Given the description of an element on the screen output the (x, y) to click on. 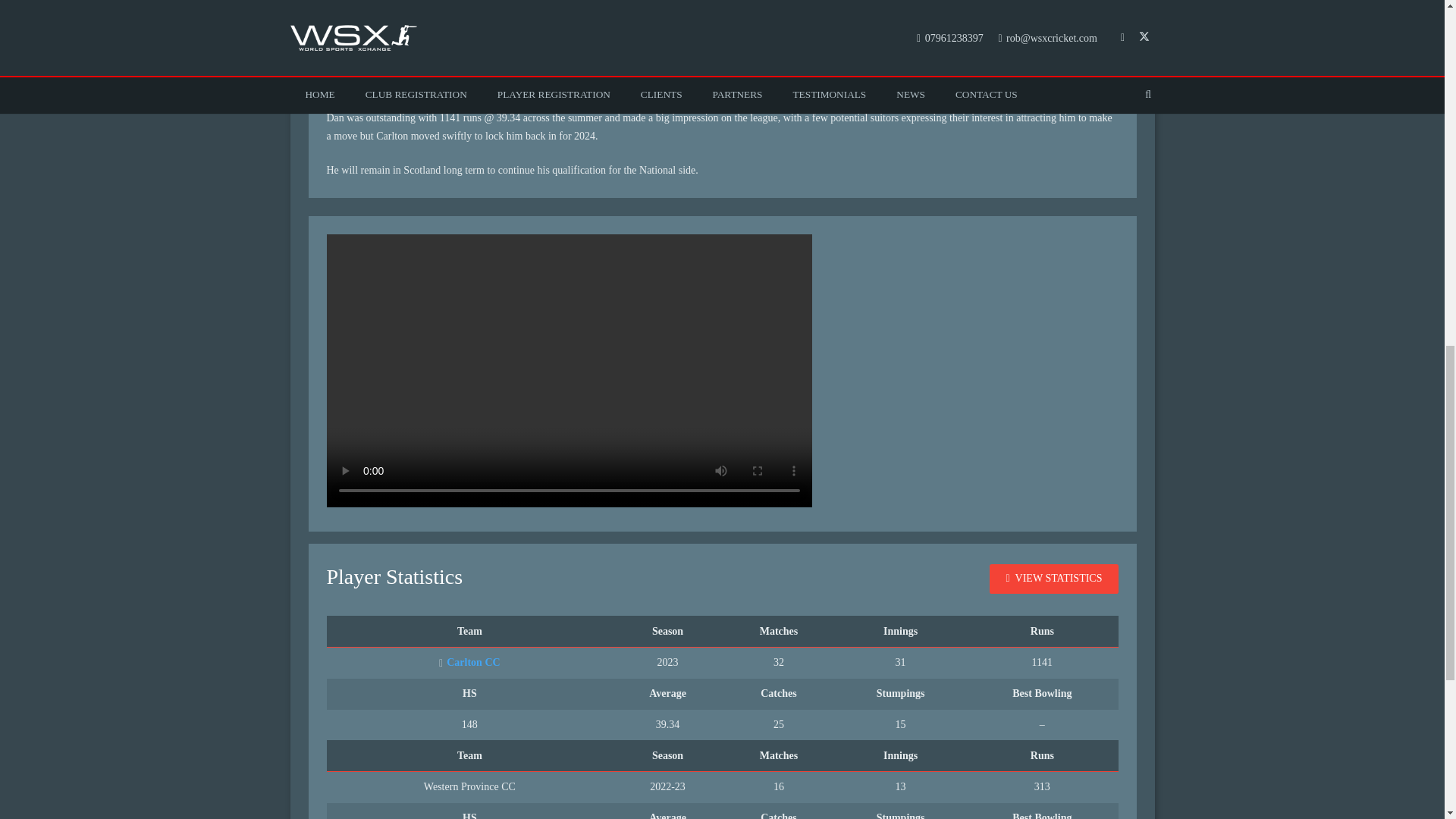
VIEW STATISTICS (1054, 578)
Carlton CC (469, 662)
Back to top (1413, 26)
